Given the description of an element on the screen output the (x, y) to click on. 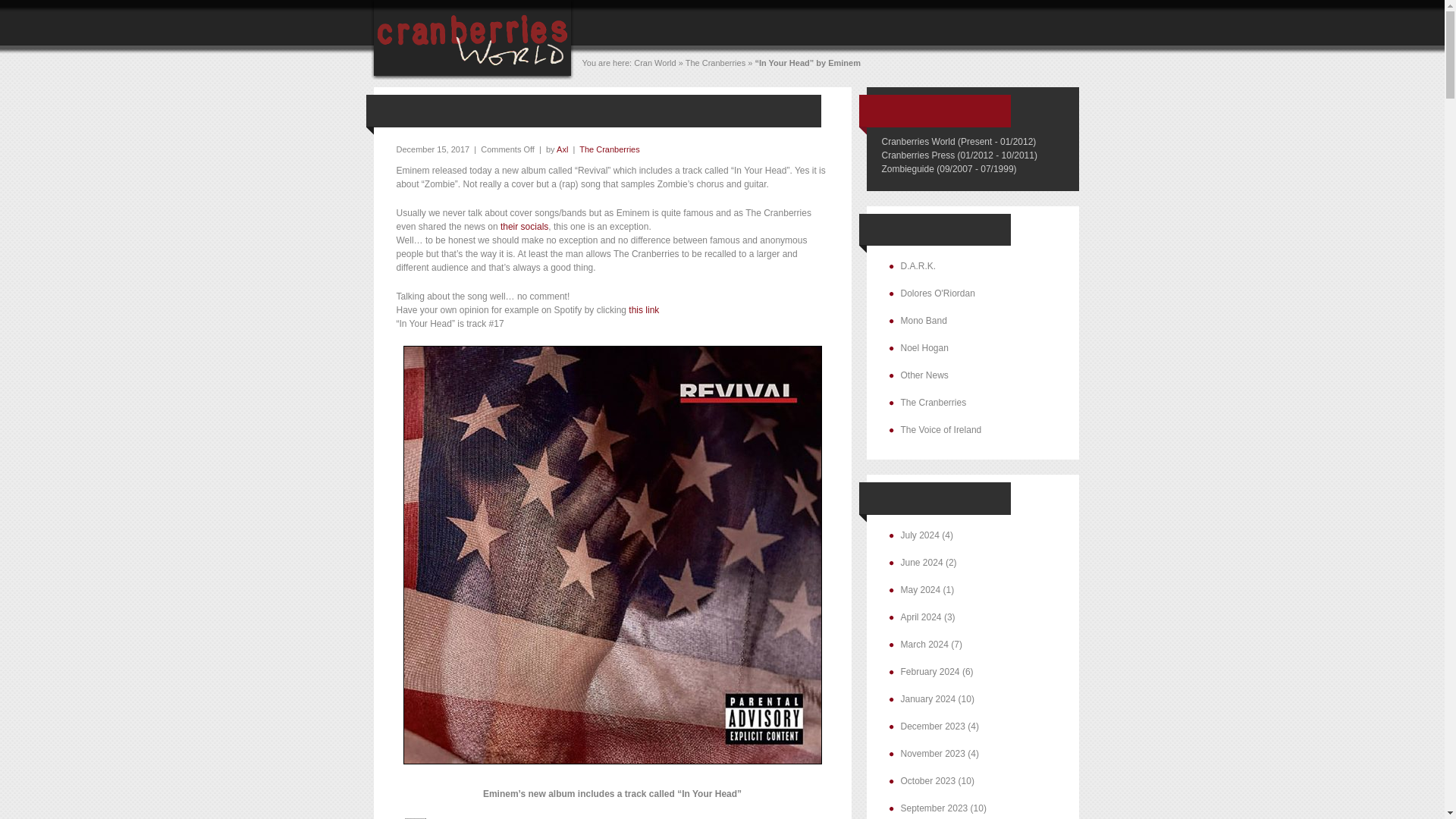
Email (414, 818)
Click for Home (471, 77)
